Given the description of an element on the screen output the (x, y) to click on. 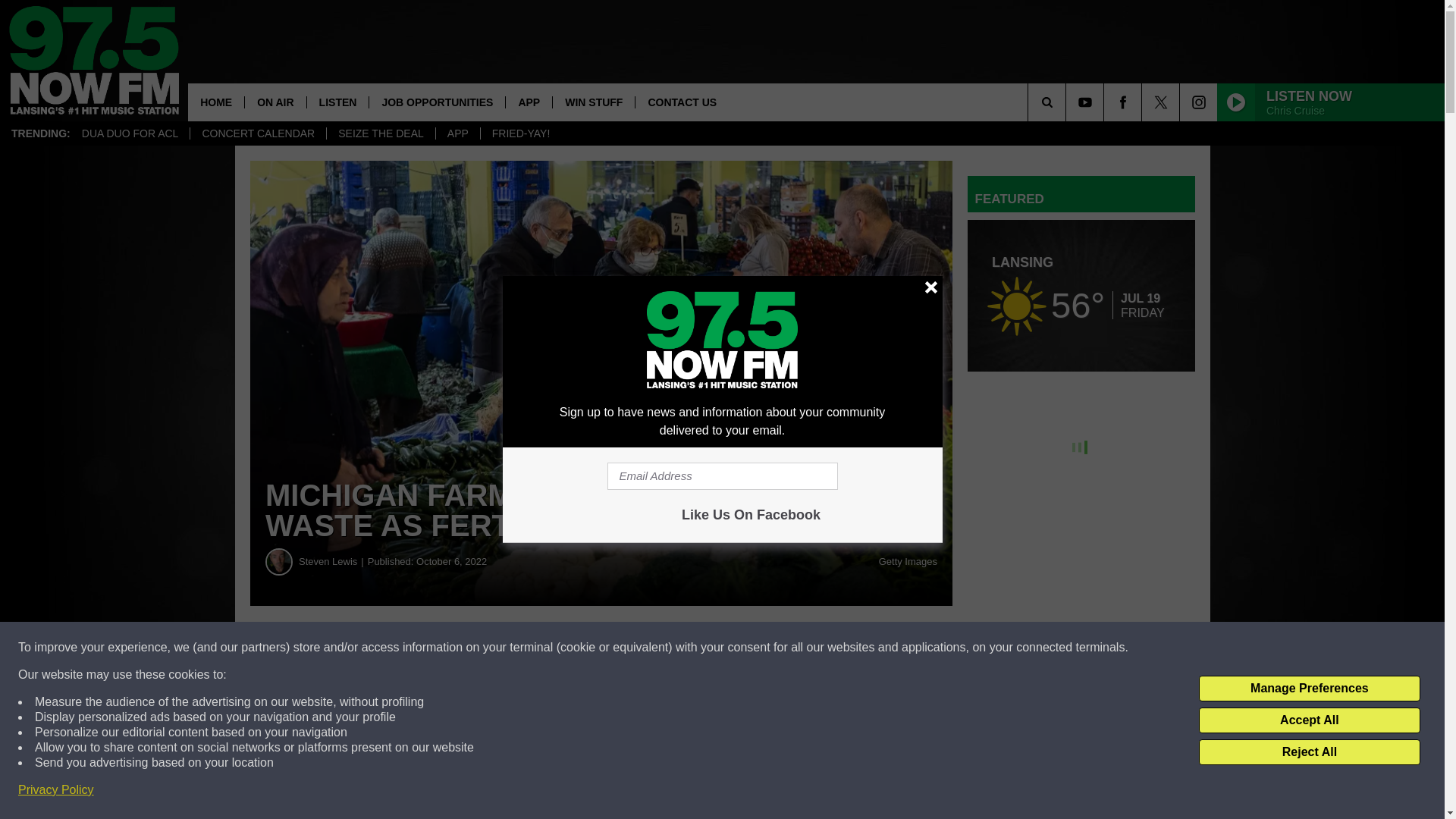
HOME (215, 102)
Lansing Weather (1081, 295)
SEIZE THE DEAL (380, 133)
JOB OPPORTUNITIES (436, 102)
WIN STUFF (592, 102)
SEARCH (1068, 102)
APP (457, 133)
Manage Preferences (1309, 688)
ON AIR (274, 102)
LISTEN (337, 102)
DUA DUO FOR ACL (129, 133)
SEARCH (1068, 102)
Email Address (722, 475)
CONCERT CALENDAR (257, 133)
Reject All (1309, 751)
